Given the description of an element on the screen output the (x, y) to click on. 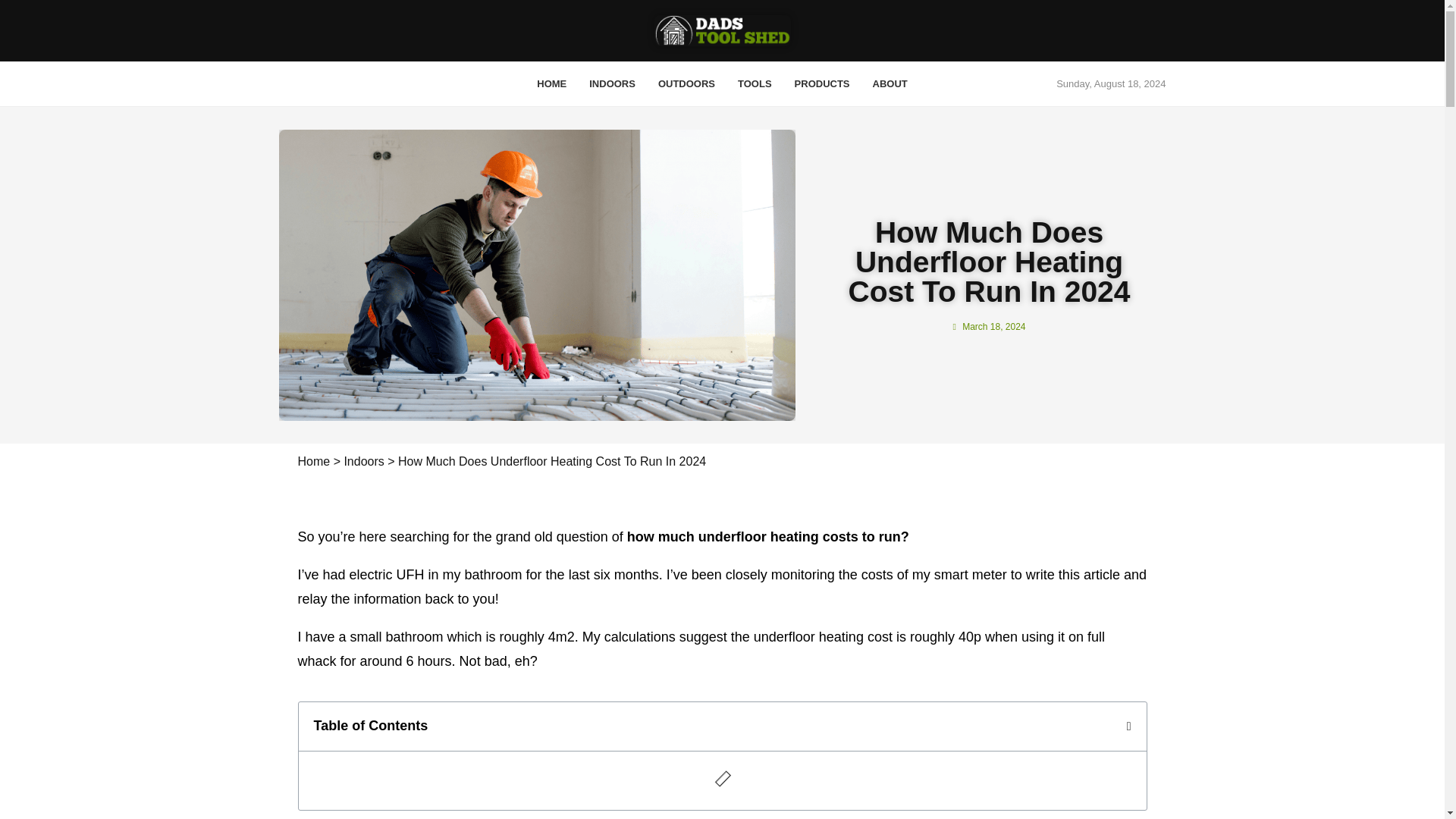
INDOORS (611, 84)
Indoors (363, 461)
OUTDOORS (686, 84)
Home (313, 461)
PRODUCTS (822, 84)
